Given the description of an element on the screen output the (x, y) to click on. 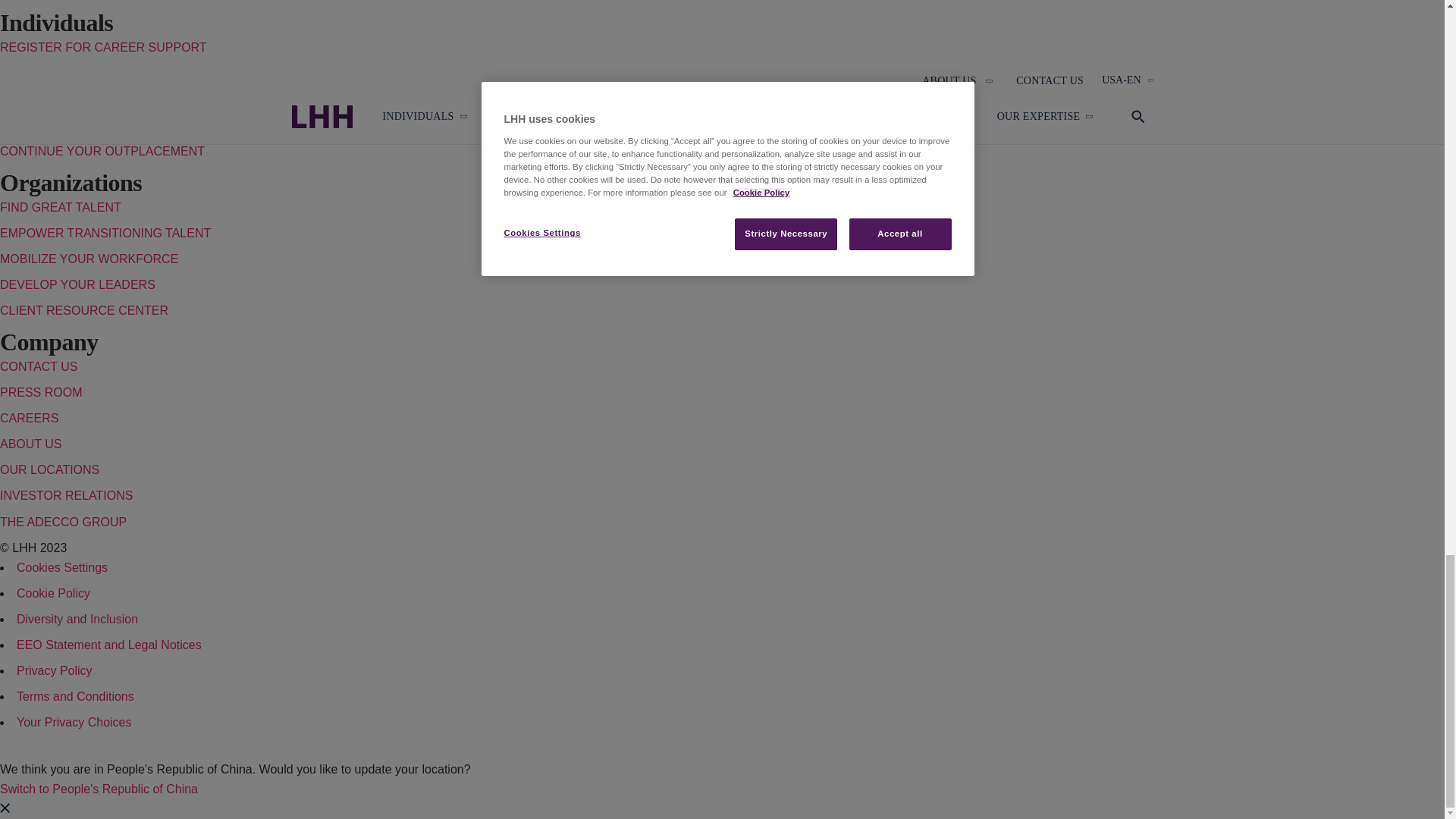
EMPOWER TRANSITIONING TALENT (105, 232)
CAREERS (29, 418)
DEVELOP YOUR LEADERS (77, 284)
INVESTOR RELATIONS (66, 495)
MOBILIZE YOUR WORKFORCE (88, 258)
SALARY CALCULATOR (65, 124)
FIND GREAT TALENT (60, 206)
CONTACT US (39, 366)
PRESS ROOM (40, 391)
Cookie Policy (53, 593)
REGISTER FOR CAREER SUPPORT (103, 47)
ABOUT US (31, 443)
Cookie Settings (61, 567)
CONTINUE YOUR OUTPLACEMENT (102, 151)
JOIN OUR CANDIDATE DATABASE (98, 72)
